Given the description of an element on the screen output the (x, y) to click on. 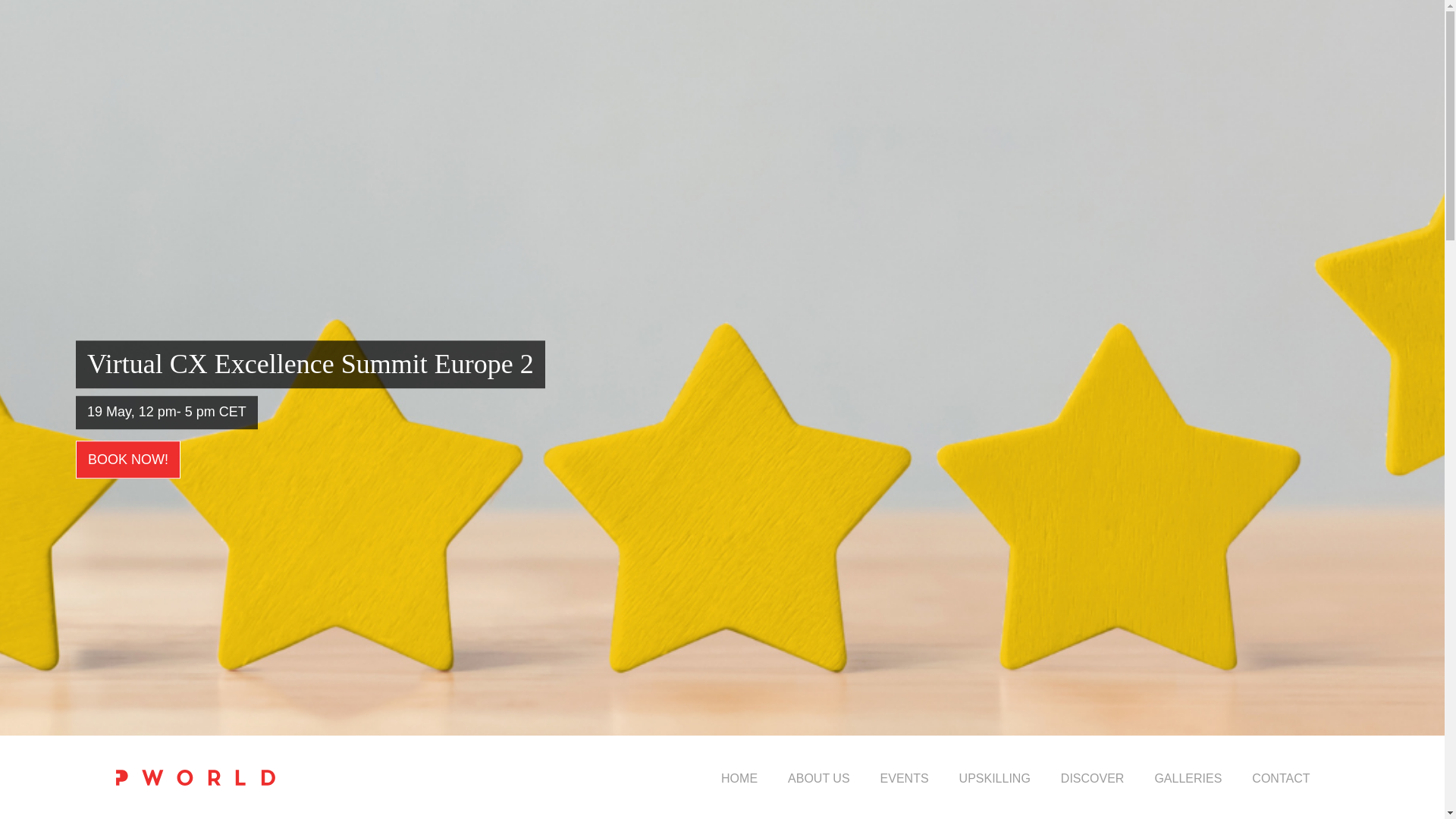
HOME (739, 778)
ABOUT US (818, 778)
DISCOVER (1092, 778)
GALLERIES (1187, 778)
EVENTS (904, 778)
UPSKILLING (994, 778)
CONTACT (1280, 778)
BOOK NOW! (127, 459)
